Given the description of an element on the screen output the (x, y) to click on. 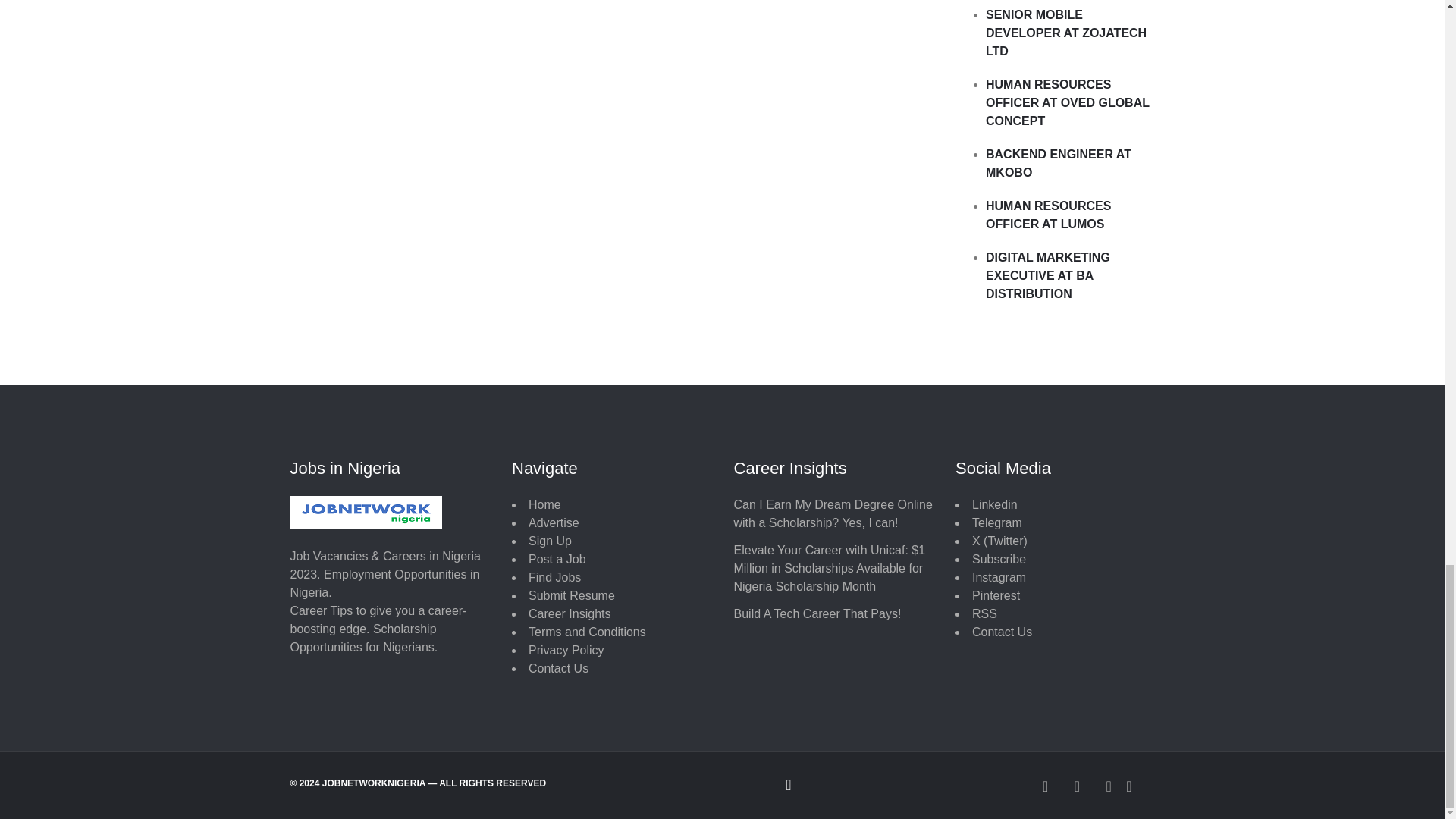
SENIOR MOBILE DEVELOPER AT ZOJATECH LTD (1066, 32)
HUMAN RESOURCES OFFICER AT LUMOS (1047, 214)
HUMAN RESOURCES OFFICER AT OVED GLOBAL CONCEPT (1067, 102)
BACKEND ENGINEER AT MKOBO (1058, 163)
DIGITAL MARKETING EXECUTIVE AT BA DISTRIBUTION (1047, 275)
